Given the description of an element on the screen output the (x, y) to click on. 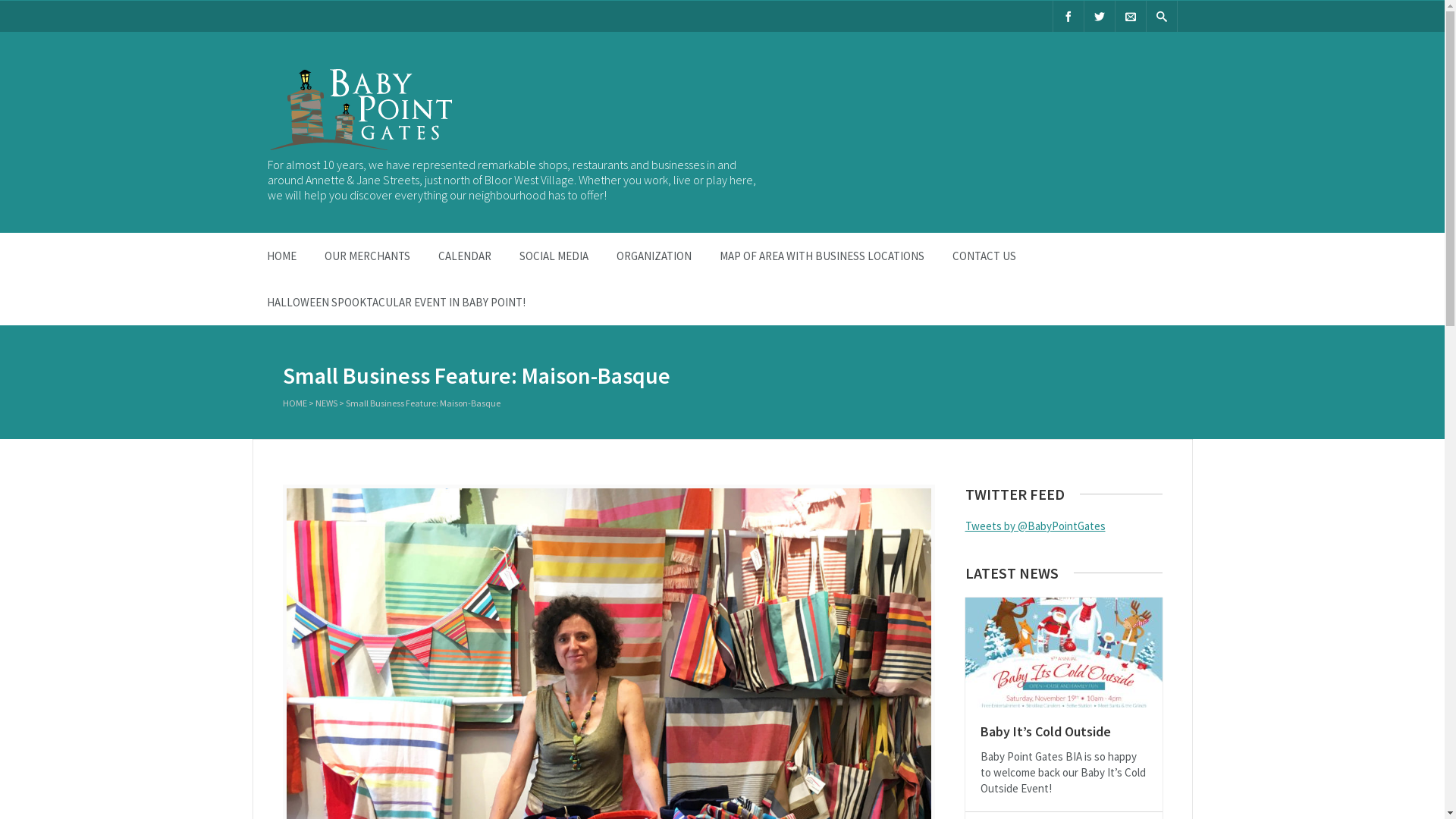
Twitter Element type: hover (1099, 15)
MAP OF AREA WITH BUSINESS LOCATIONS Element type: text (821, 255)
HOME Element type: text (294, 402)
CONTACT US Element type: text (983, 255)
CALENDAR Element type: text (464, 255)
Baby Point Gates B.I.A. Element type: text (398, 79)
HALLOWEEN SPOOKTACULAR EVENT IN BABY POINT! Element type: text (395, 302)
OUR MERCHANTS Element type: text (366, 255)
Tweets by @BabyPointGates Element type: text (1034, 525)
NEWS Element type: text (326, 402)
Search Element type: text (22, 8)
HOME Element type: text (280, 255)
SOCIAL MEDIA Element type: text (553, 255)
ORGANIZATION Element type: text (654, 255)
Facebook Element type: hover (1067, 15)
